Given the description of an element on the screen output the (x, y) to click on. 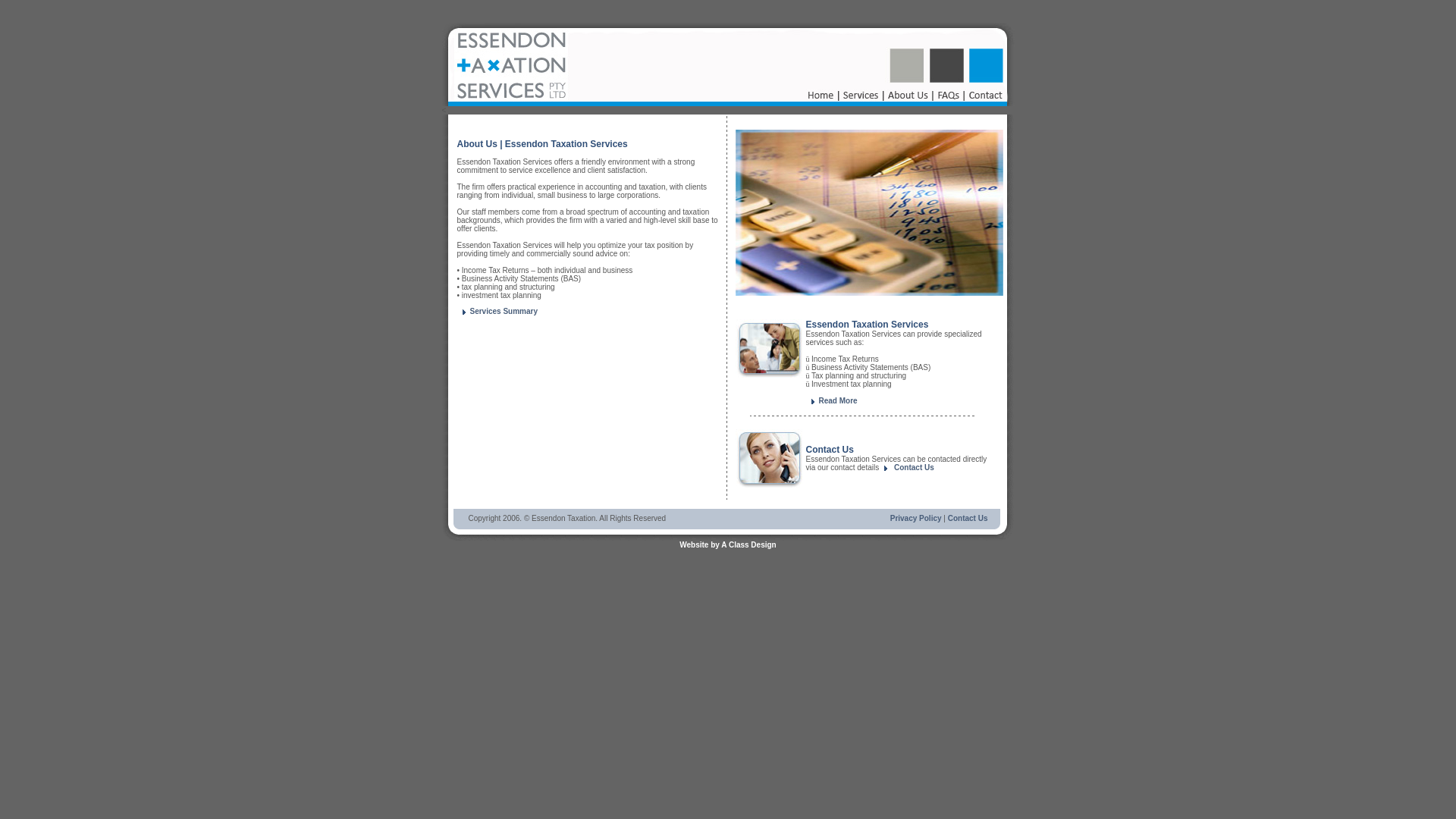
Read More Element type: text (830, 400)
Services Summary Element type: text (496, 311)
Website by A Class Design Element type: text (727, 544)
Contact Us Element type: text (967, 518)
Contact Us Element type: text (914, 467)
Privacy Policy Element type: text (915, 518)
